Given the description of an element on the screen output the (x, y) to click on. 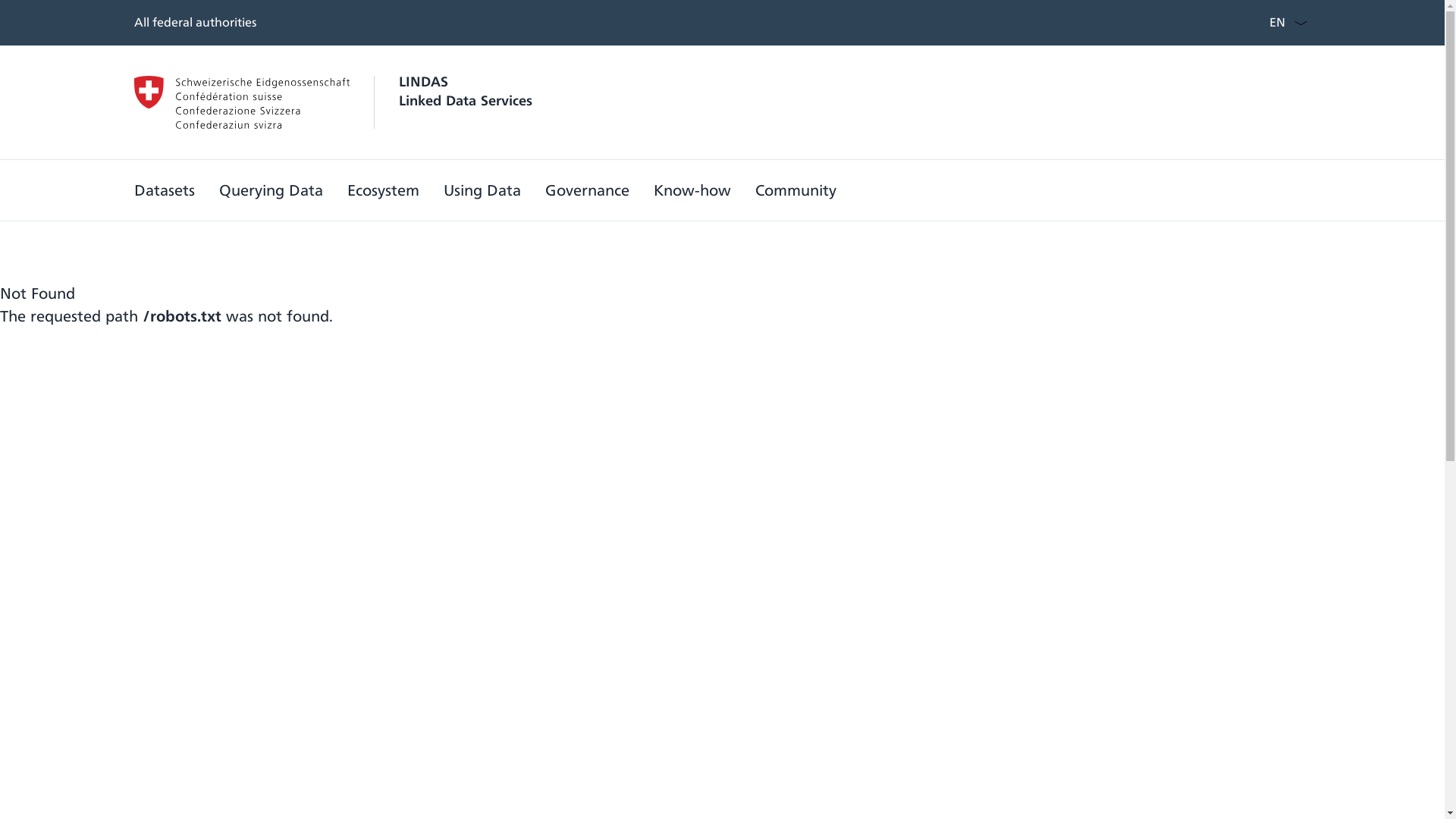
Governance Element type: text (586, 190)
All federal authorities Element type: text (194, 22)
Know-how Element type: text (692, 190)
Community Element type: text (795, 190)
Querying Data Element type: text (270, 190)
LINDAS
Linked Data Services Element type: text (332, 101)
Using Data Element type: text (481, 190)
All federal authorities Element type: text (194, 22)
Datasets Element type: text (163, 190)
Ecosystem Element type: text (383, 190)
